Given the description of an element on the screen output the (x, y) to click on. 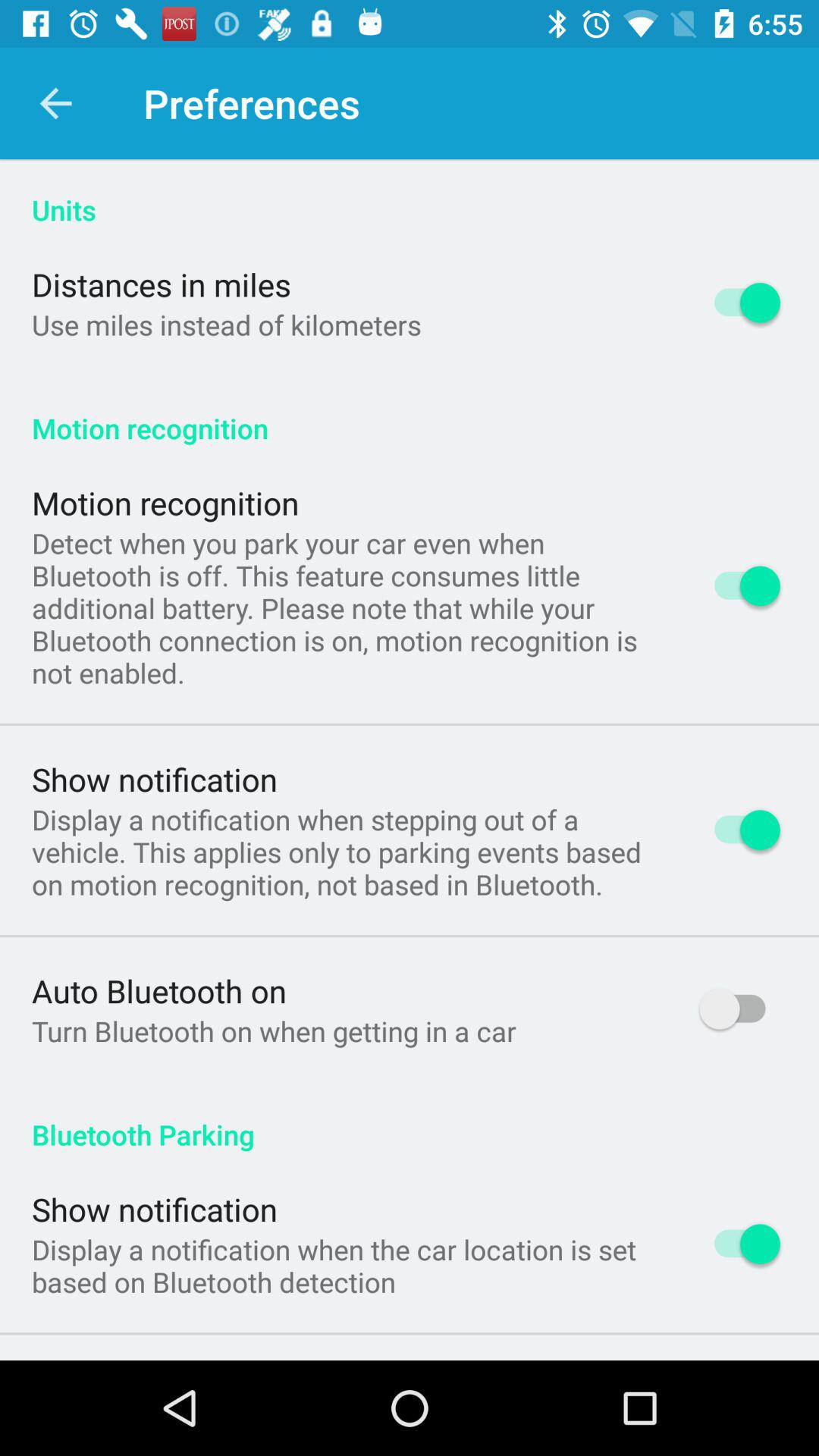
back (55, 103)
